Given the description of an element on the screen output the (x, y) to click on. 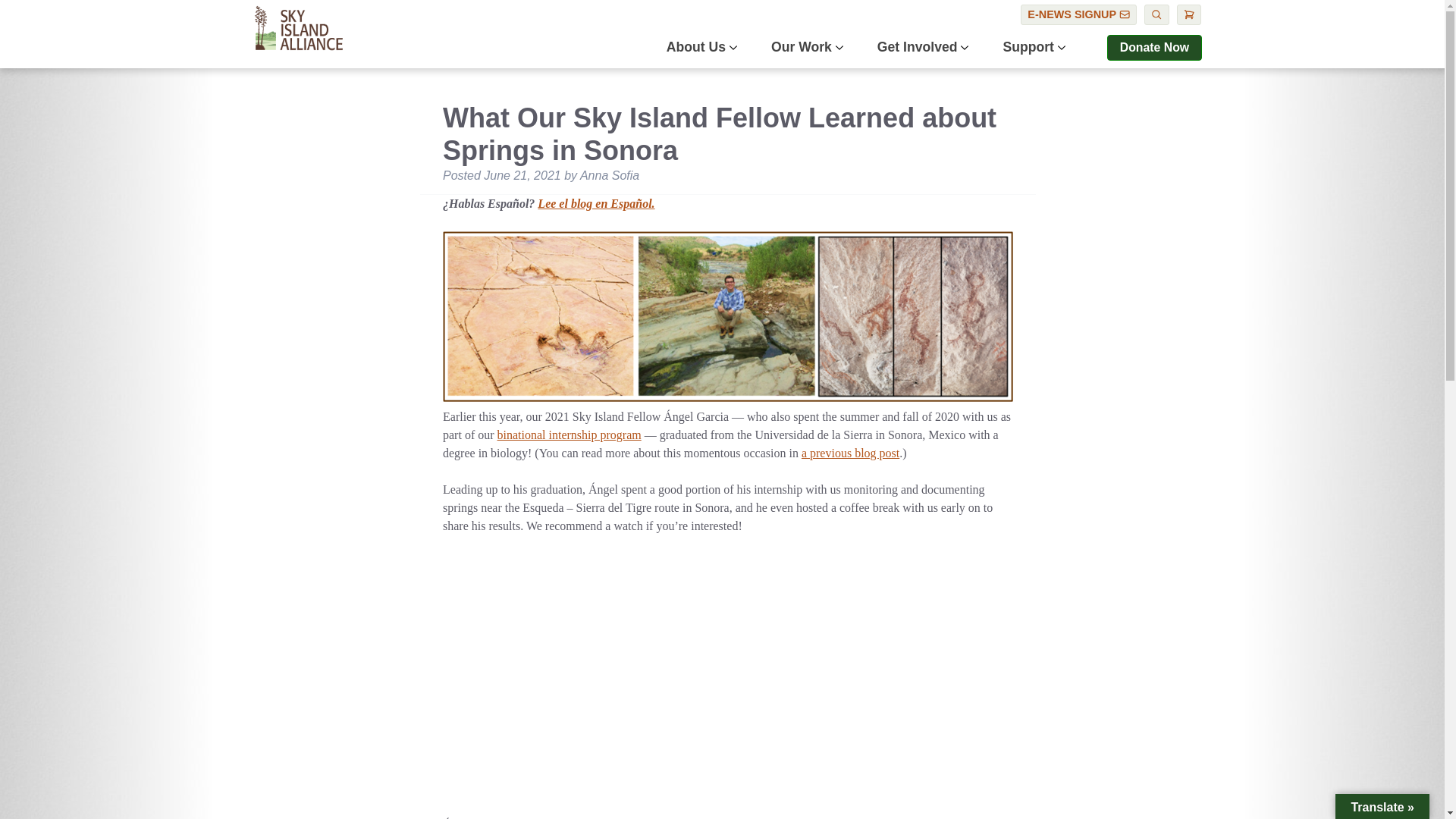
Search (1156, 14)
Shop (1188, 14)
E-news signup form (1078, 14)
E-NEWS SIGNUP (1078, 14)
YouTube video player (654, 672)
